Given the description of an element on the screen output the (x, y) to click on. 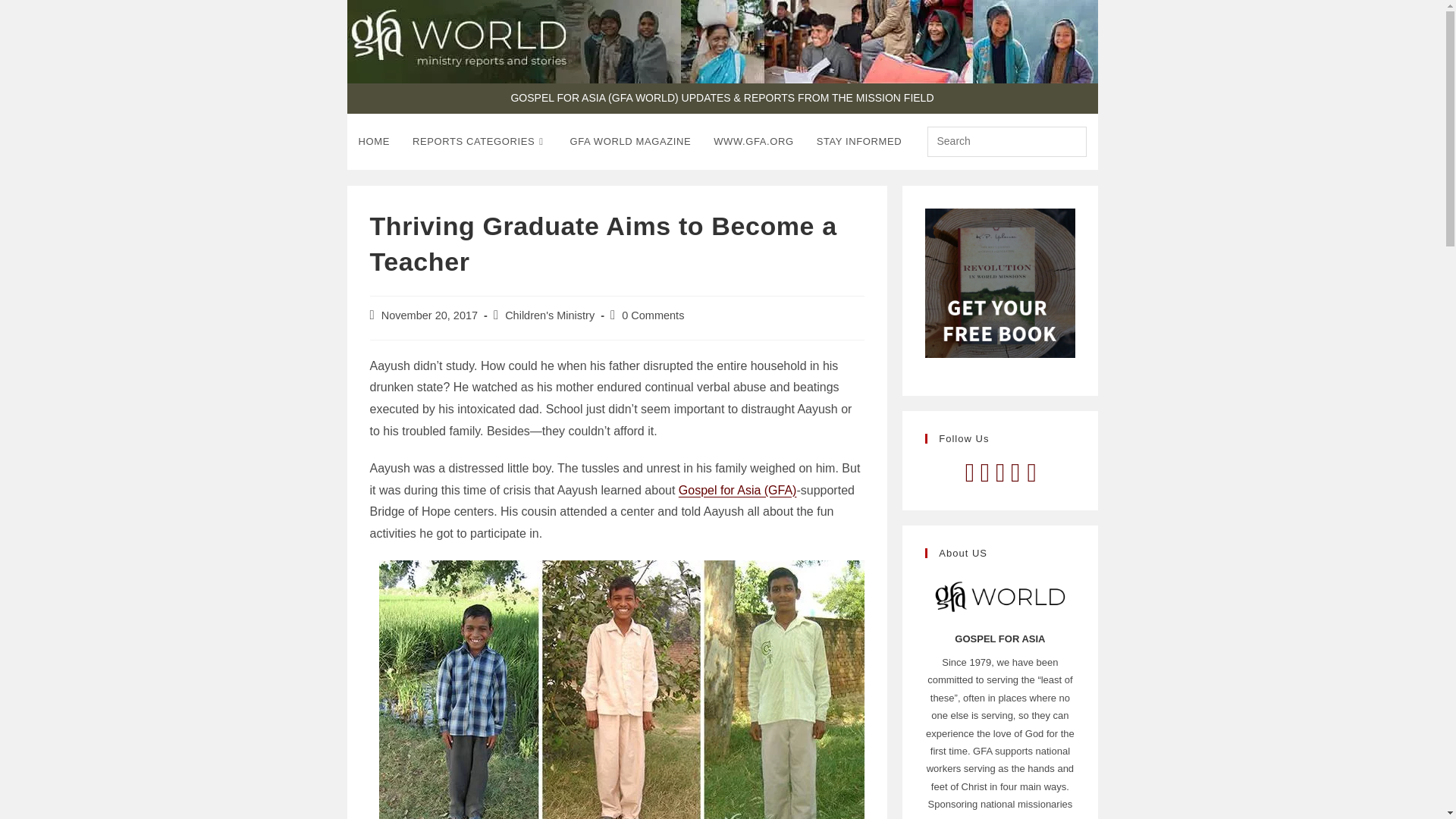
STAY INFORMED (859, 141)
HOME (374, 141)
REPORTS CATEGORIES (480, 141)
WWW.GFA.ORG (753, 141)
GFA WORLD MAGAZINE (631, 141)
Children's Ministry (549, 315)
Gospel for Asia: GFA World Magazine (631, 141)
